Given the description of an element on the screen output the (x, y) to click on. 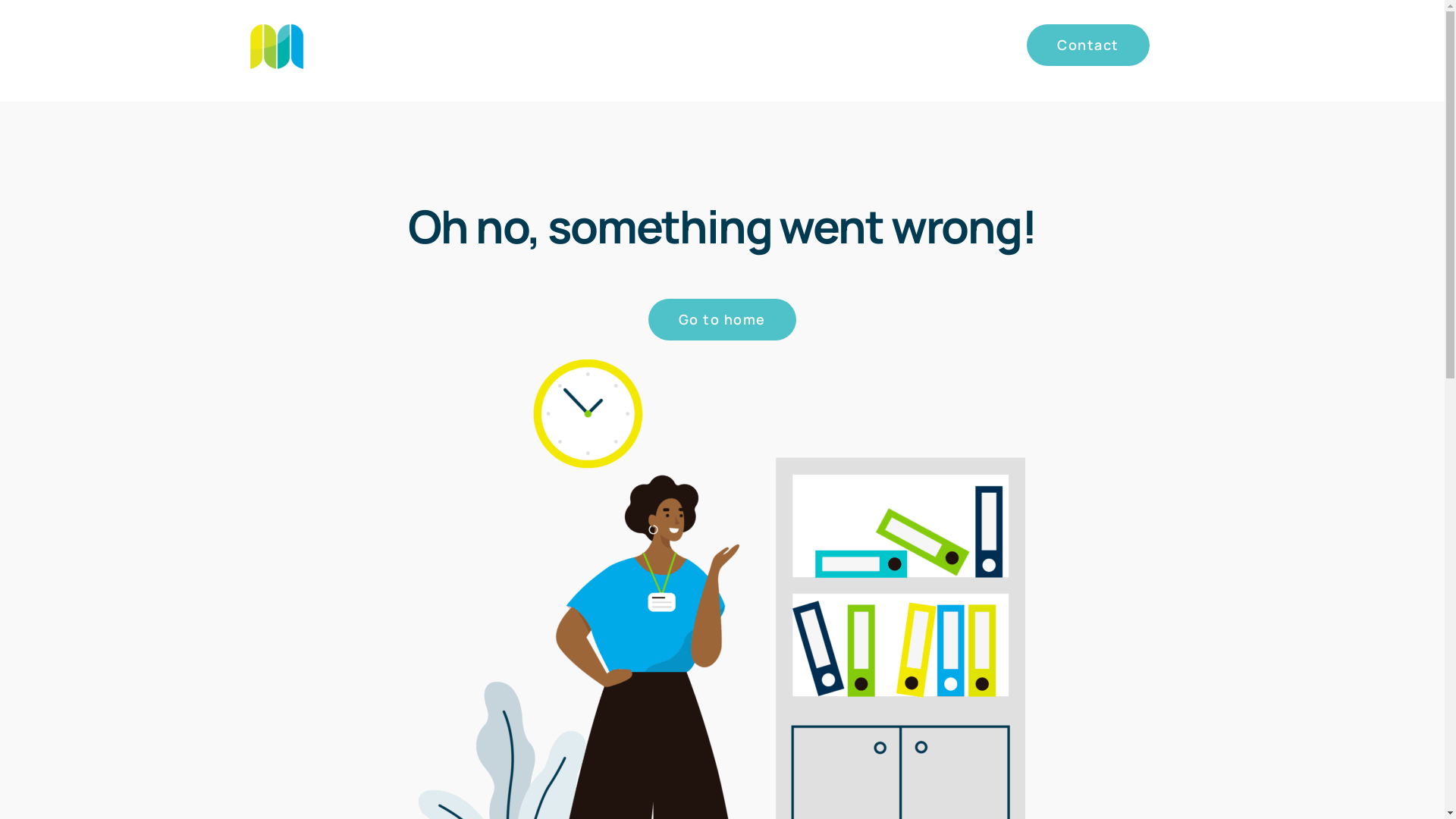
Client Portal Element type: text (910, 44)
About Element type: text (829, 44)
Go to home Element type: text (722, 319)
Search Element type: hover (1173, 44)
Services Element type: text (761, 44)
Contact Element type: text (1087, 44)
Home Element type: text (694, 44)
News Element type: text (989, 44)
